Given the description of an element on the screen output the (x, y) to click on. 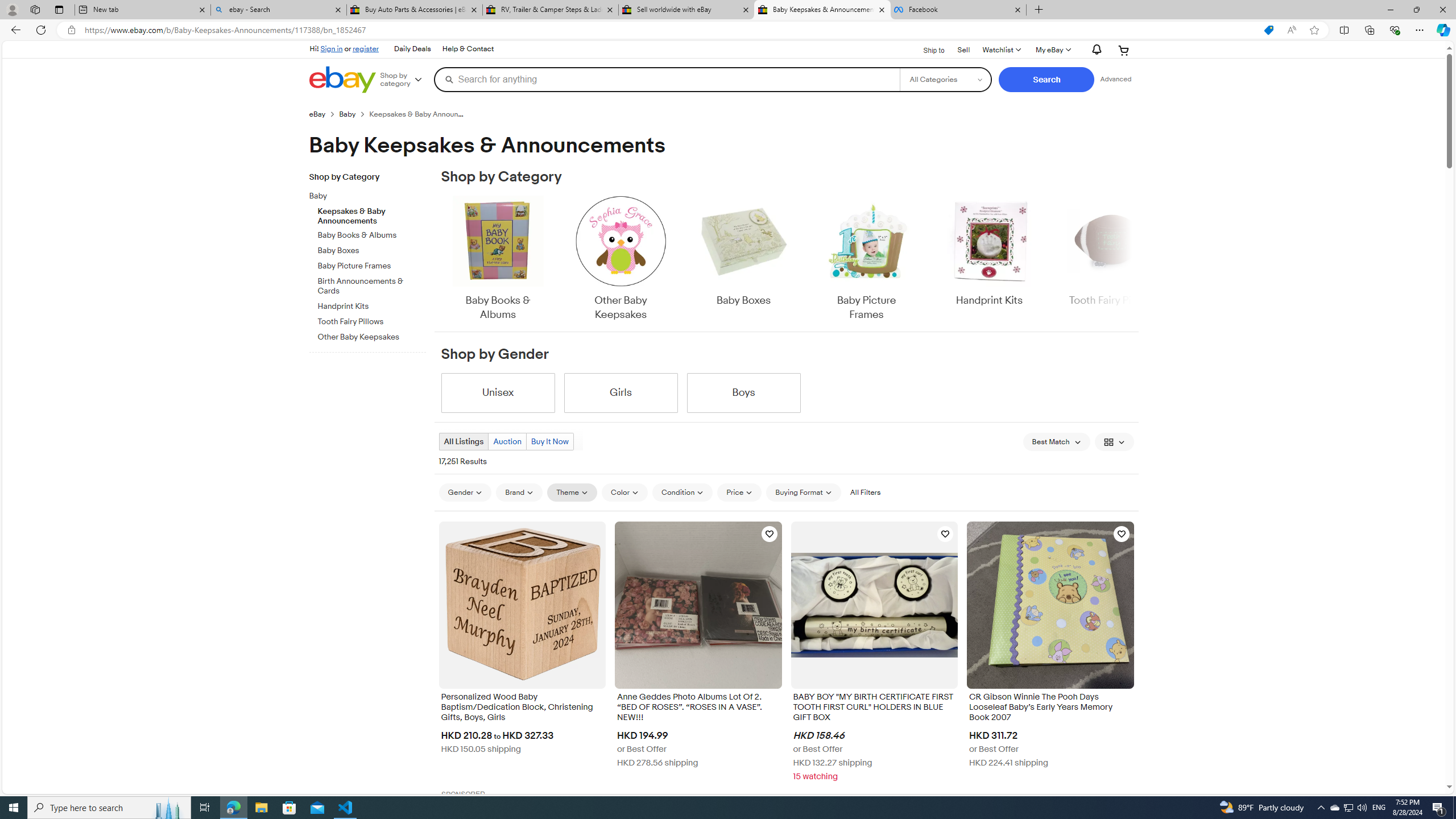
RV, Trailer & Camper Steps & Ladders for sale | eBay (550, 9)
Shop by category (405, 79)
View: Gallery View (1114, 441)
Unisex (497, 392)
Baby (362, 196)
eBay Home (341, 79)
All Listings (463, 441)
Gender (465, 492)
My eBay (1052, 49)
Baby Picture Frames (866, 258)
Sell (963, 49)
